Given the description of an element on the screen output the (x, y) to click on. 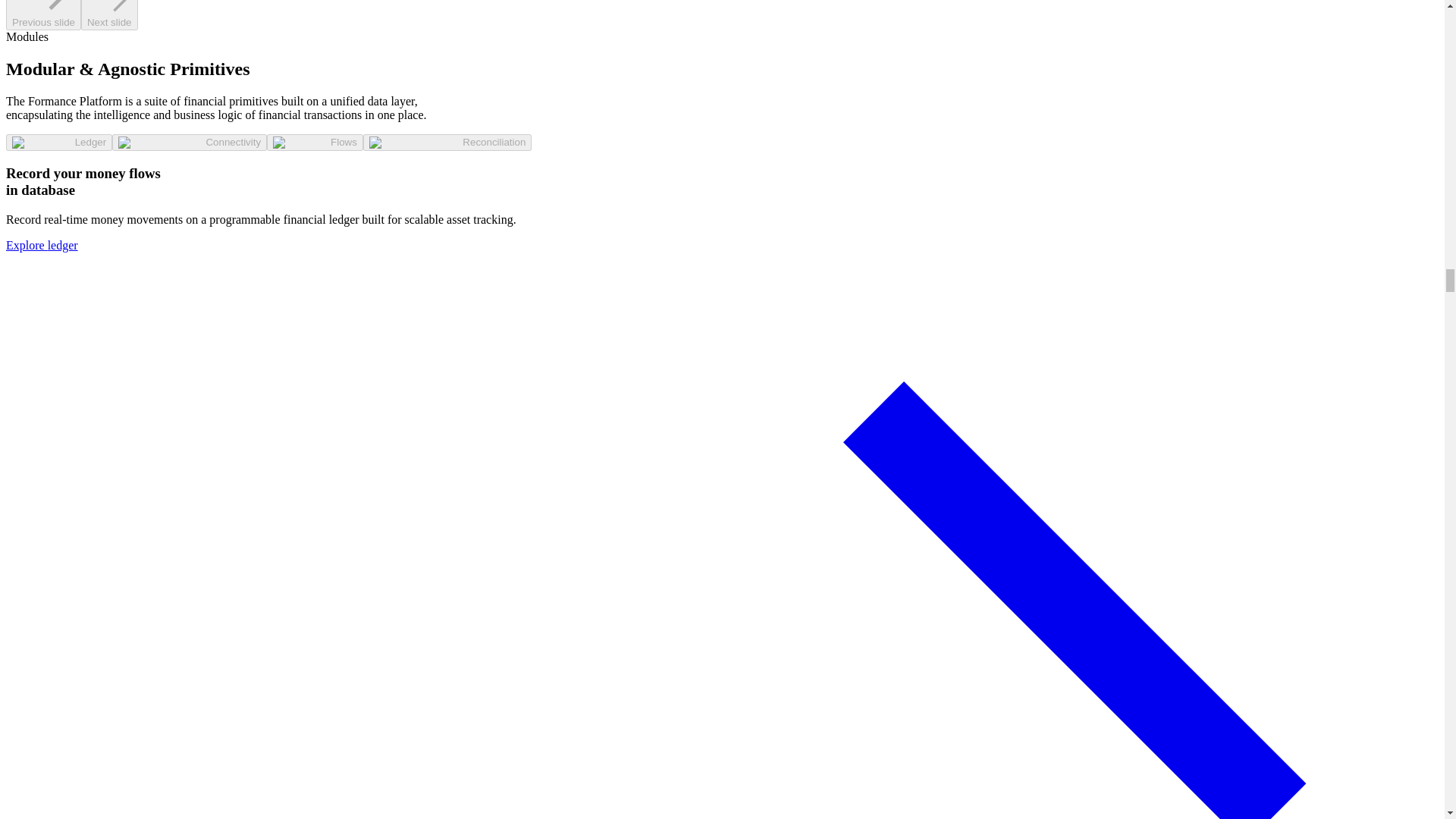
Reconciliation (446, 142)
Ledger (58, 142)
Flows (314, 142)
Connectivity (189, 142)
Previous slide (43, 15)
Next slide (109, 15)
